Given the description of an element on the screen output the (x, y) to click on. 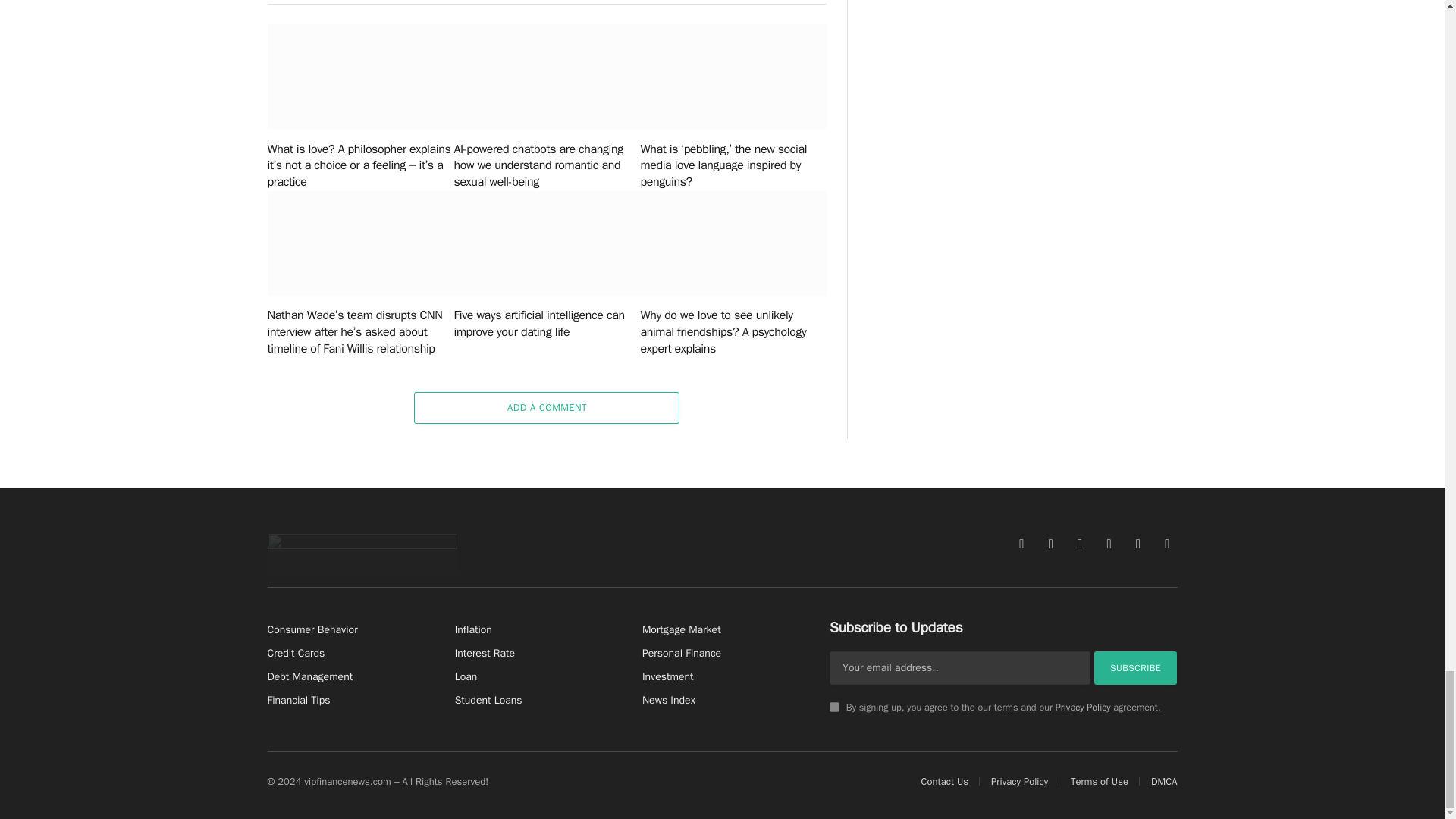
Subscribe (1135, 667)
on (834, 706)
